Given the description of an element on the screen output the (x, y) to click on. 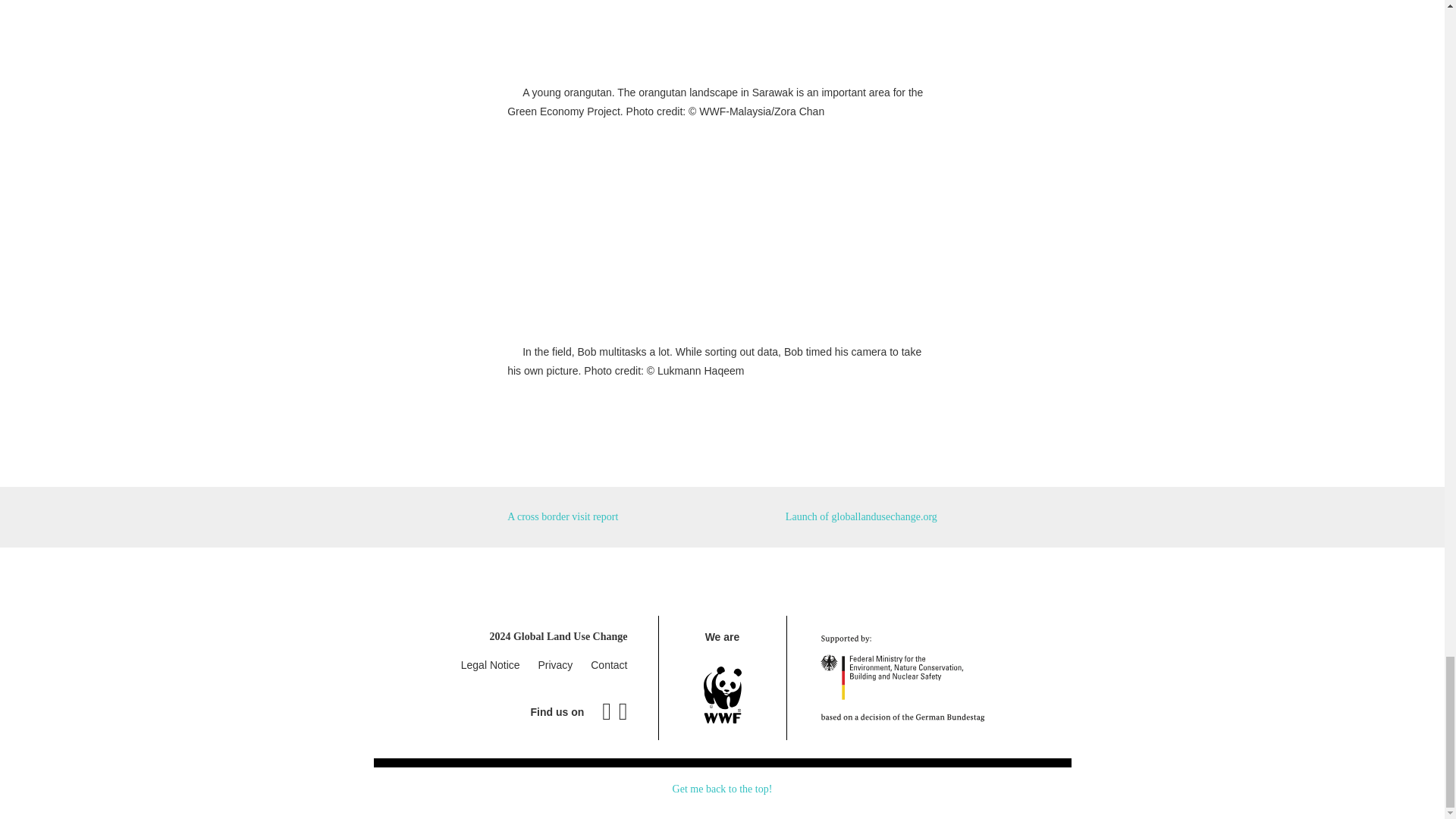
A cross border visit report (561, 516)
Legal Notice (490, 664)
Get me back to the top! (722, 789)
Privacy (554, 664)
Launch of globallandusechange.org (861, 516)
Contact (609, 664)
